Given the description of an element on the screen output the (x, y) to click on. 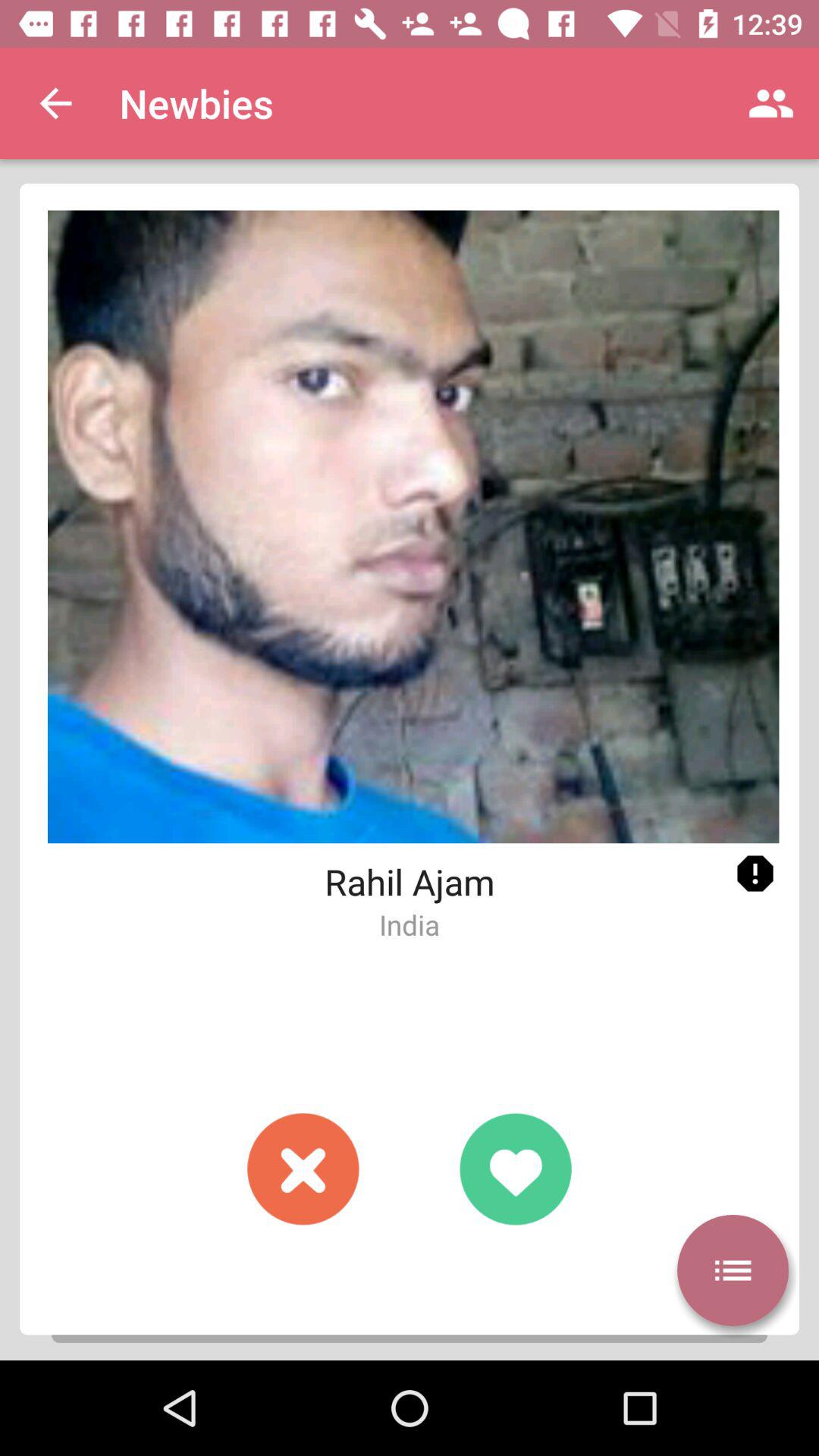
more information (733, 1270)
